Given the description of an element on the screen output the (x, y) to click on. 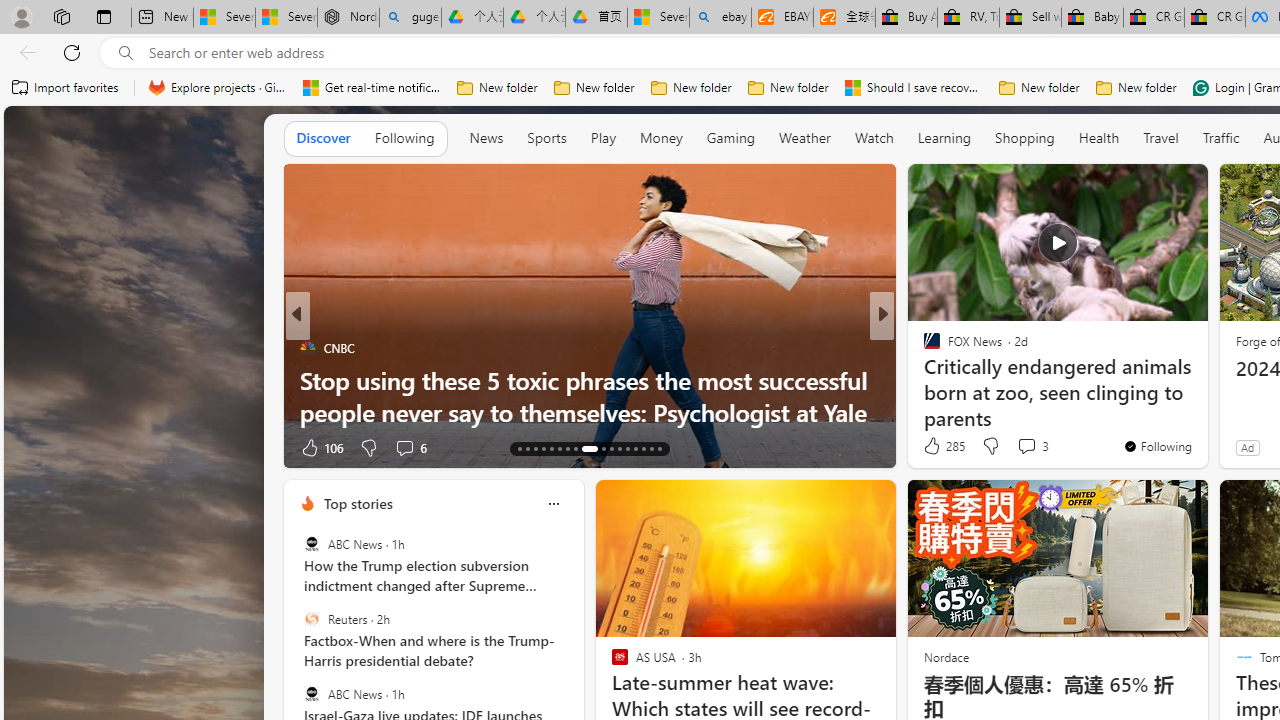
View comments 2 Comment (1014, 447)
AutomationID: tab-40 (642, 448)
Buy Auto Parts & Accessories | eBay (905, 17)
8 Like (930, 447)
AutomationID: tab-15 (535, 448)
AutomationID: tab-18 (559, 448)
View comments 6 Comment (1026, 447)
AutomationID: tab-25 (627, 448)
AutomationID: tab-14 (527, 448)
